Given the description of an element on the screen output the (x, y) to click on. 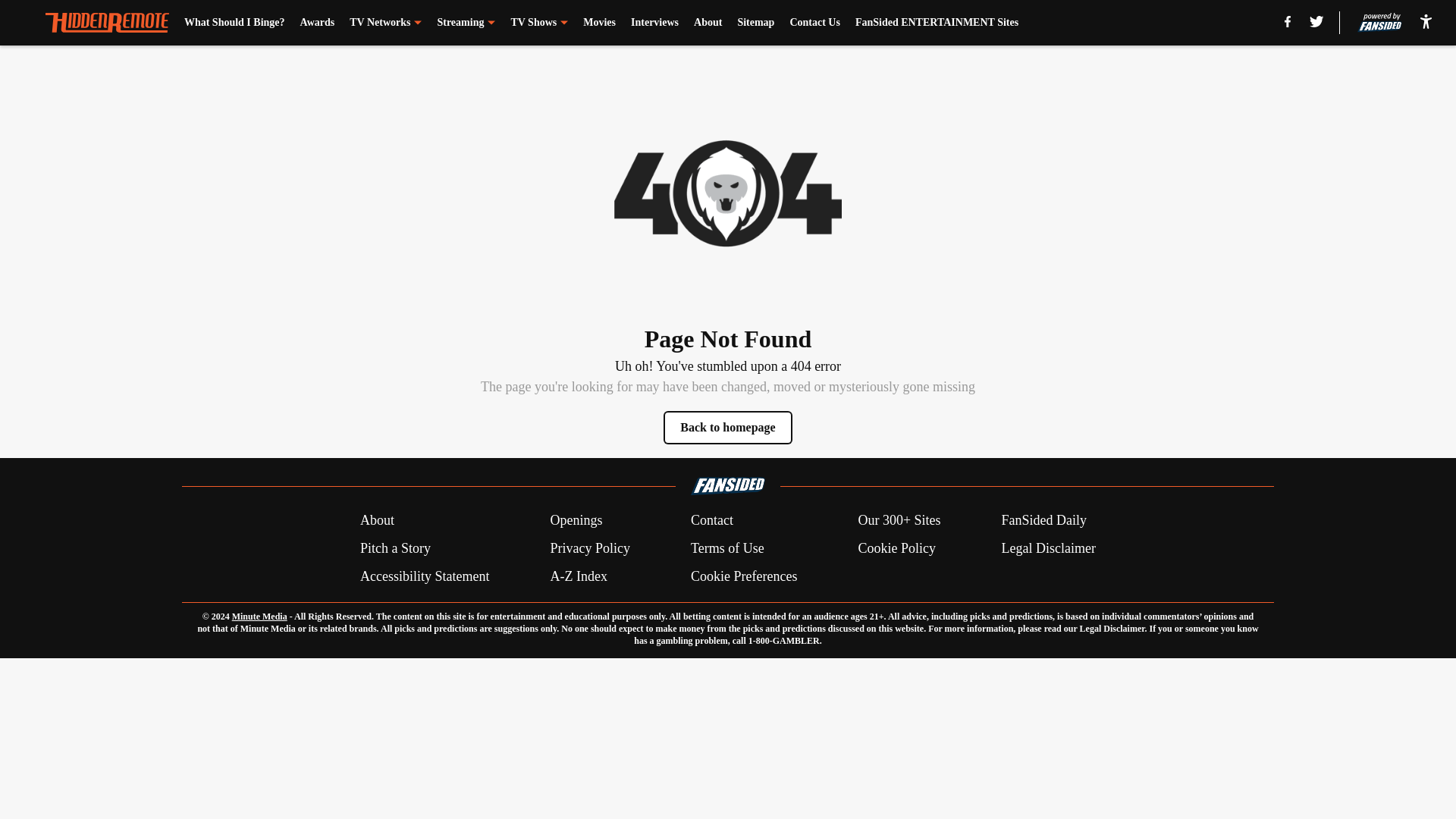
Contact Us (814, 22)
Openings (576, 520)
What Should I Binge? (234, 22)
Awards (316, 22)
About (708, 22)
Interviews (654, 22)
FanSided ENTERTAINMENT Sites (936, 22)
Error image (727, 193)
Sitemap (755, 22)
Movies (599, 22)
